Given the description of an element on the screen output the (x, y) to click on. 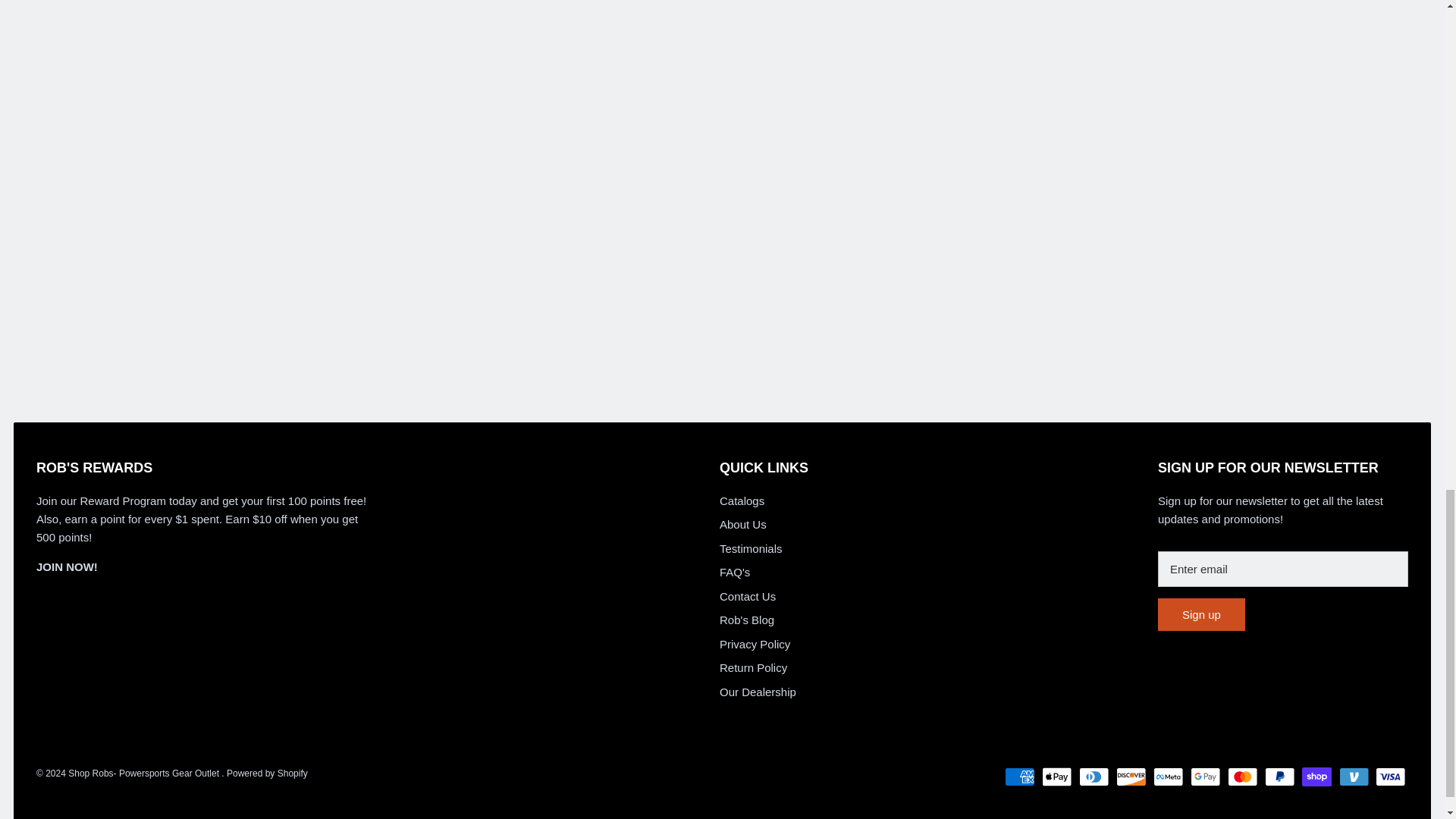
Discover (1130, 776)
Google Pay (1205, 776)
Meta Pay (1168, 776)
Mastercard (1242, 776)
Venmo (1353, 776)
Shop Pay (1316, 776)
American Express (1019, 776)
JOIN NOW! (66, 566)
Diners Club (1093, 776)
Apple Pay (1056, 776)
